Given the description of an element on the screen output the (x, y) to click on. 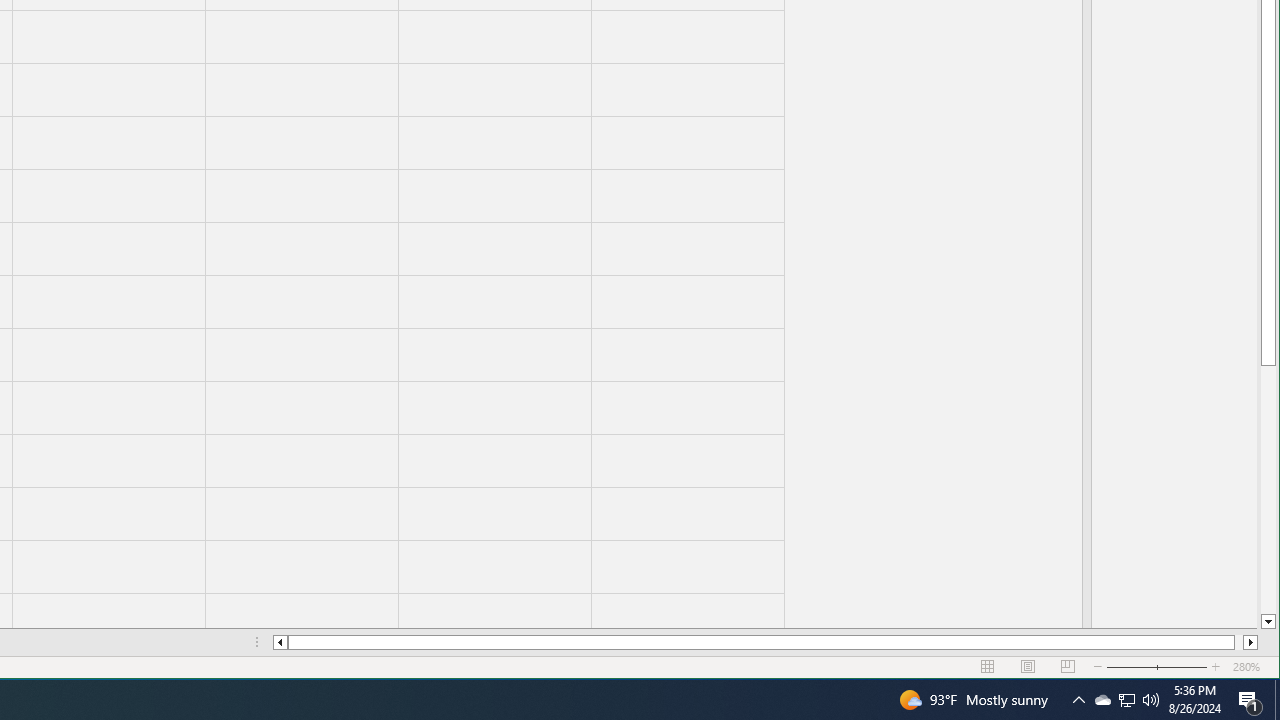
Q2790: 100% (1151, 699)
User Promoted Notification Area (1126, 699)
Action Center, 1 new notification (1250, 699)
